Given the description of an element on the screen output the (x, y) to click on. 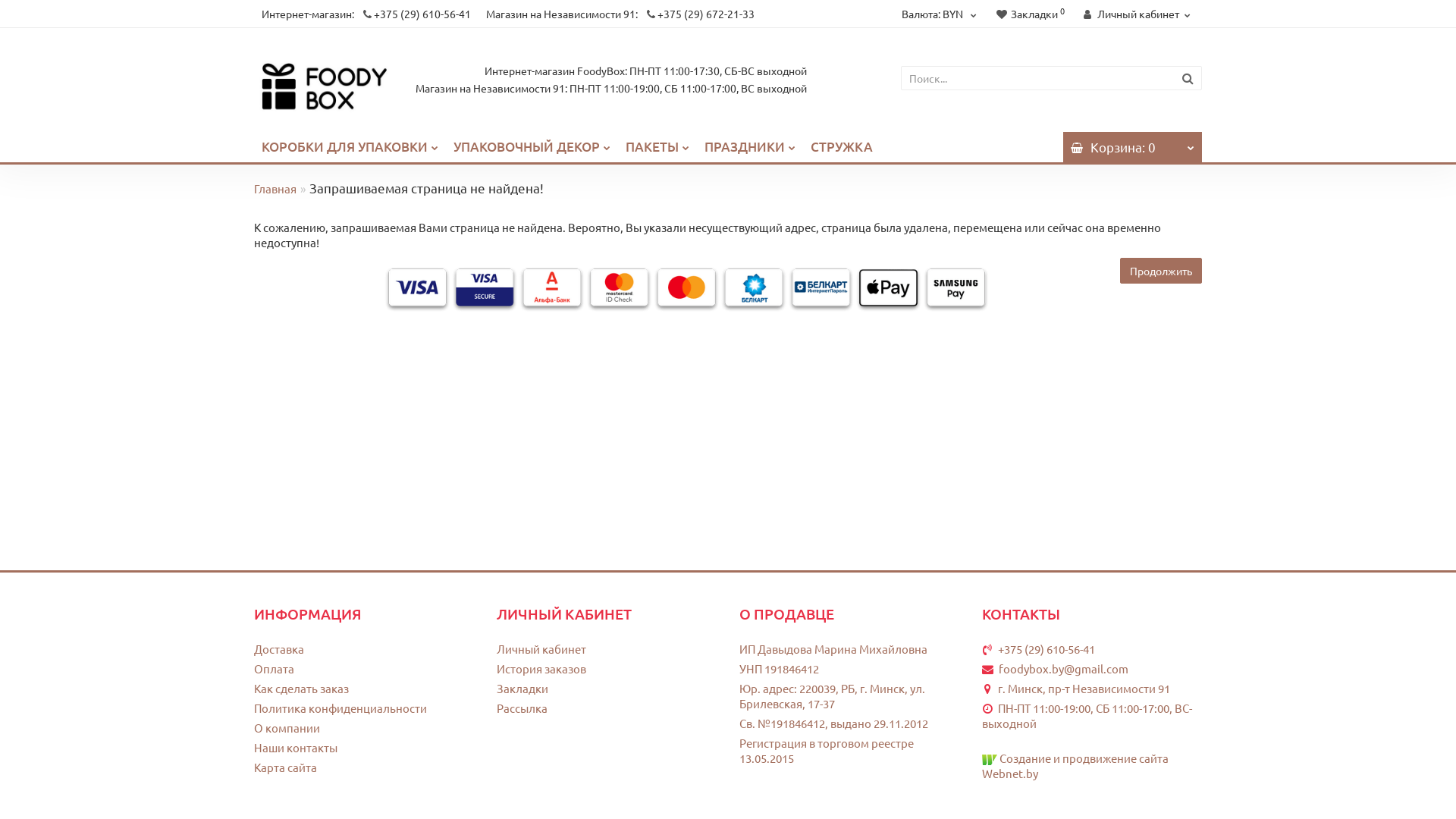
FoodyBox Element type: hover (323, 87)
